Given the description of an element on the screen output the (x, y) to click on. 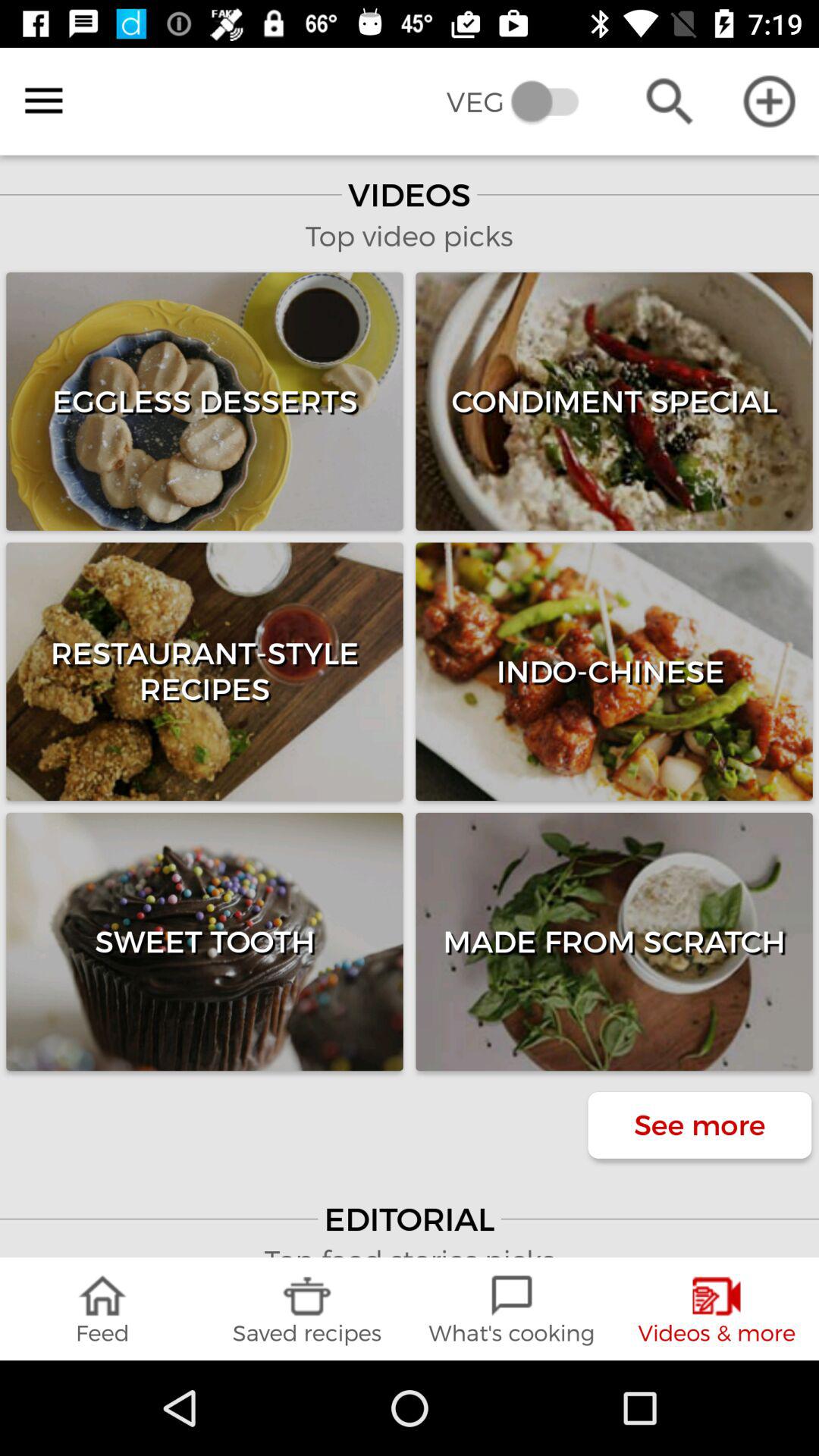
turn on item to the right of the saved recipes item (511, 1308)
